Given the description of an element on the screen output the (x, y) to click on. 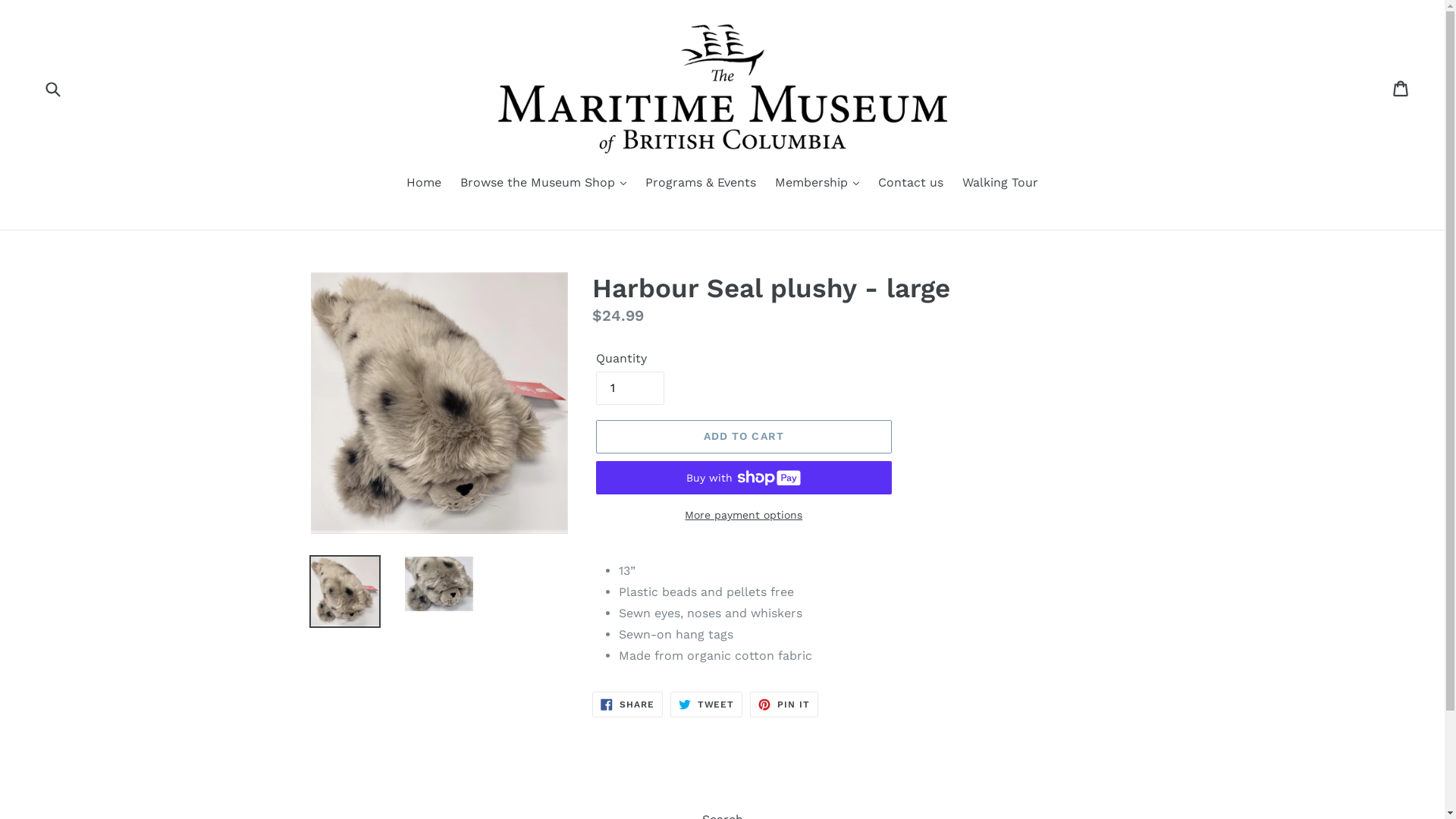
Home Element type: text (423, 183)
TWEET
TWEET ON TWITTER Element type: text (706, 704)
Contact us Element type: text (910, 183)
More payment options Element type: text (743, 515)
Cart Element type: text (1401, 88)
PIN IT
PIN ON PINTEREST Element type: text (783, 704)
Submit Element type: text (51, 87)
Walking Tour Element type: text (999, 183)
Programs & Events Element type: text (700, 183)
ADD TO CART Element type: text (743, 436)
SHARE
SHARE ON FACEBOOK Element type: text (627, 704)
